Given the description of an element on the screen output the (x, y) to click on. 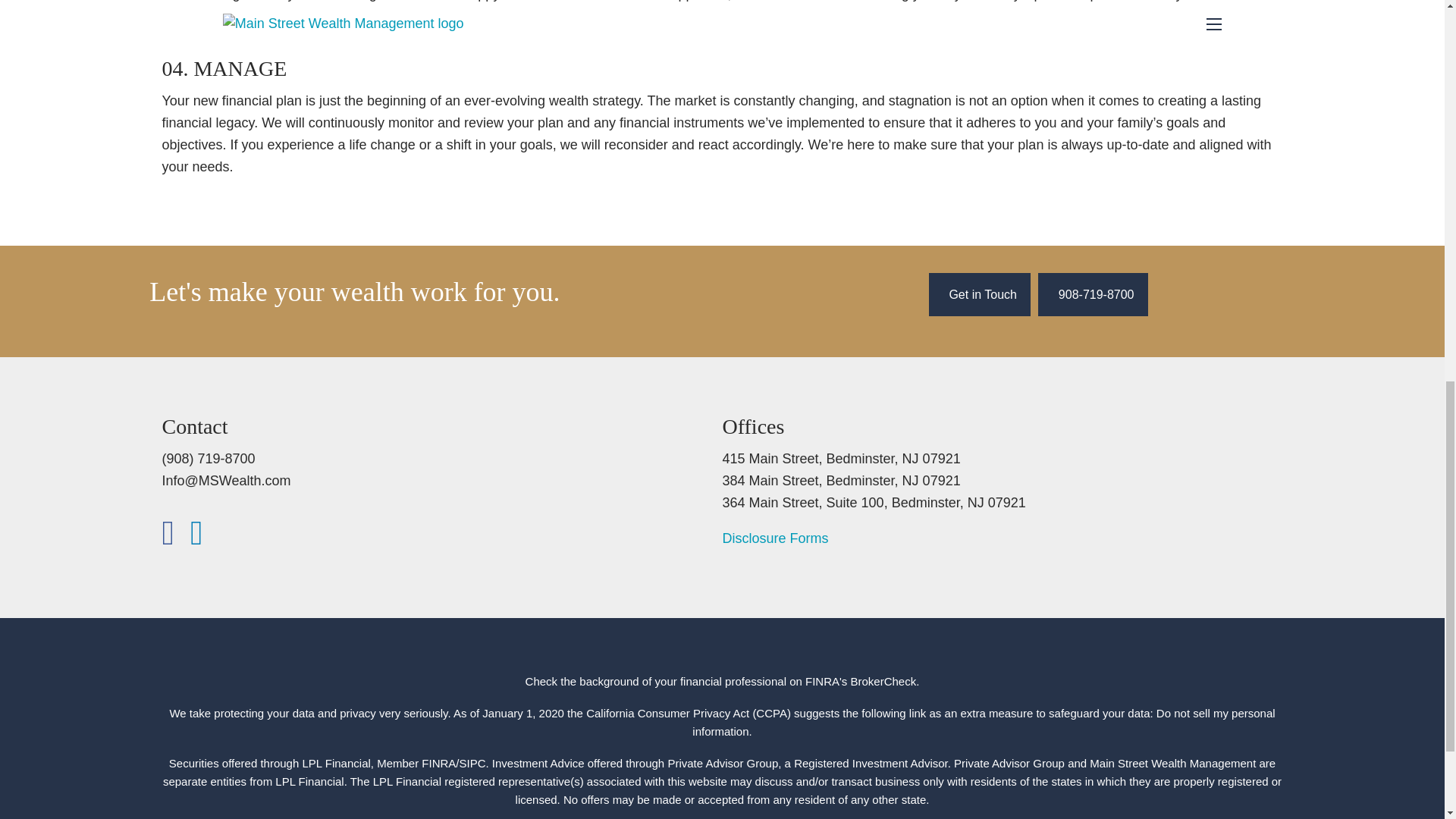
  908-719-8700 (1093, 294)
Disclosure Forms (775, 538)
SIPC (473, 762)
FINRA (438, 762)
  Get in Touch (979, 294)
Contact (979, 294)
Disclosure Forms (775, 538)
BrokerCheck (883, 680)
